Given the description of an element on the screen output the (x, y) to click on. 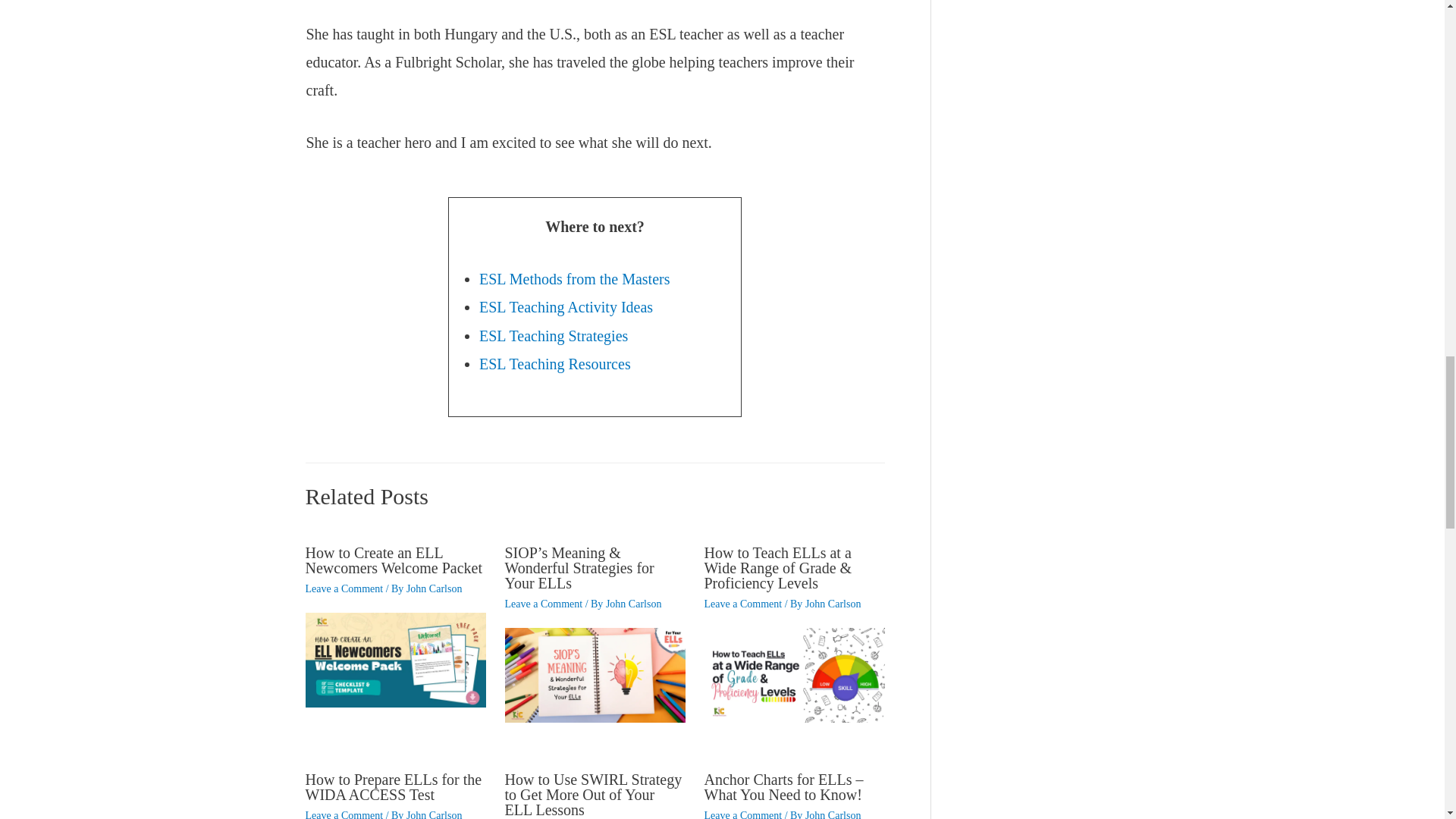
View all posts by John Carlson (833, 814)
View all posts by John Carlson (434, 814)
View all posts by John Carlson (434, 588)
View all posts by John Carlson (633, 603)
View all posts by John Carlson (833, 603)
